Given the description of an element on the screen output the (x, y) to click on. 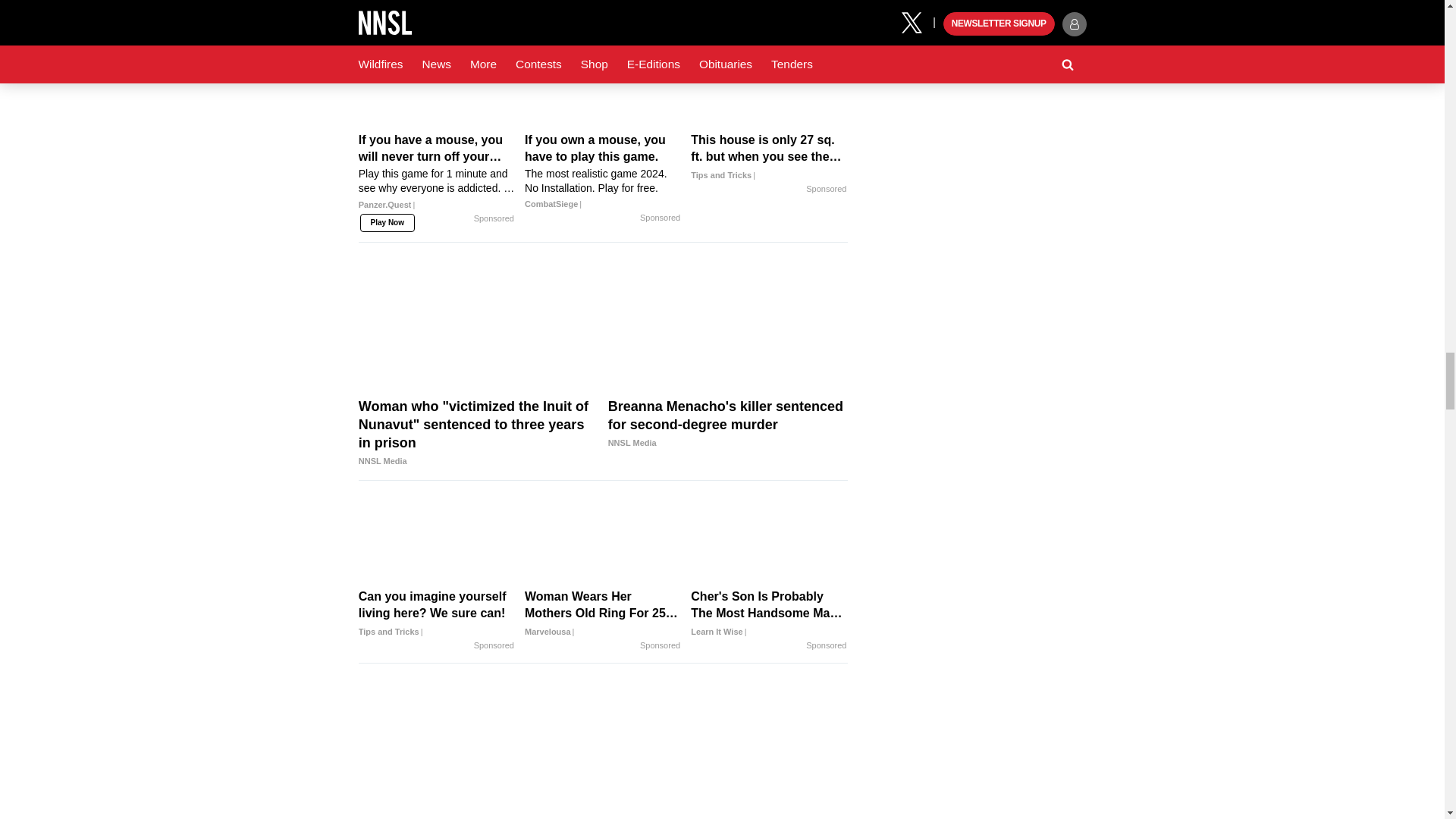
Cher's Son Is Probably The Most Handsome Man To Ever Exist (768, 613)
Breanna Menacho's killer sentenced for second-degree murder (727, 424)
If you own a mouse, you have to play this game. (602, 171)
Can you imagine yourself living here? We sure can! (436, 613)
